Given the description of an element on the screen output the (x, y) to click on. 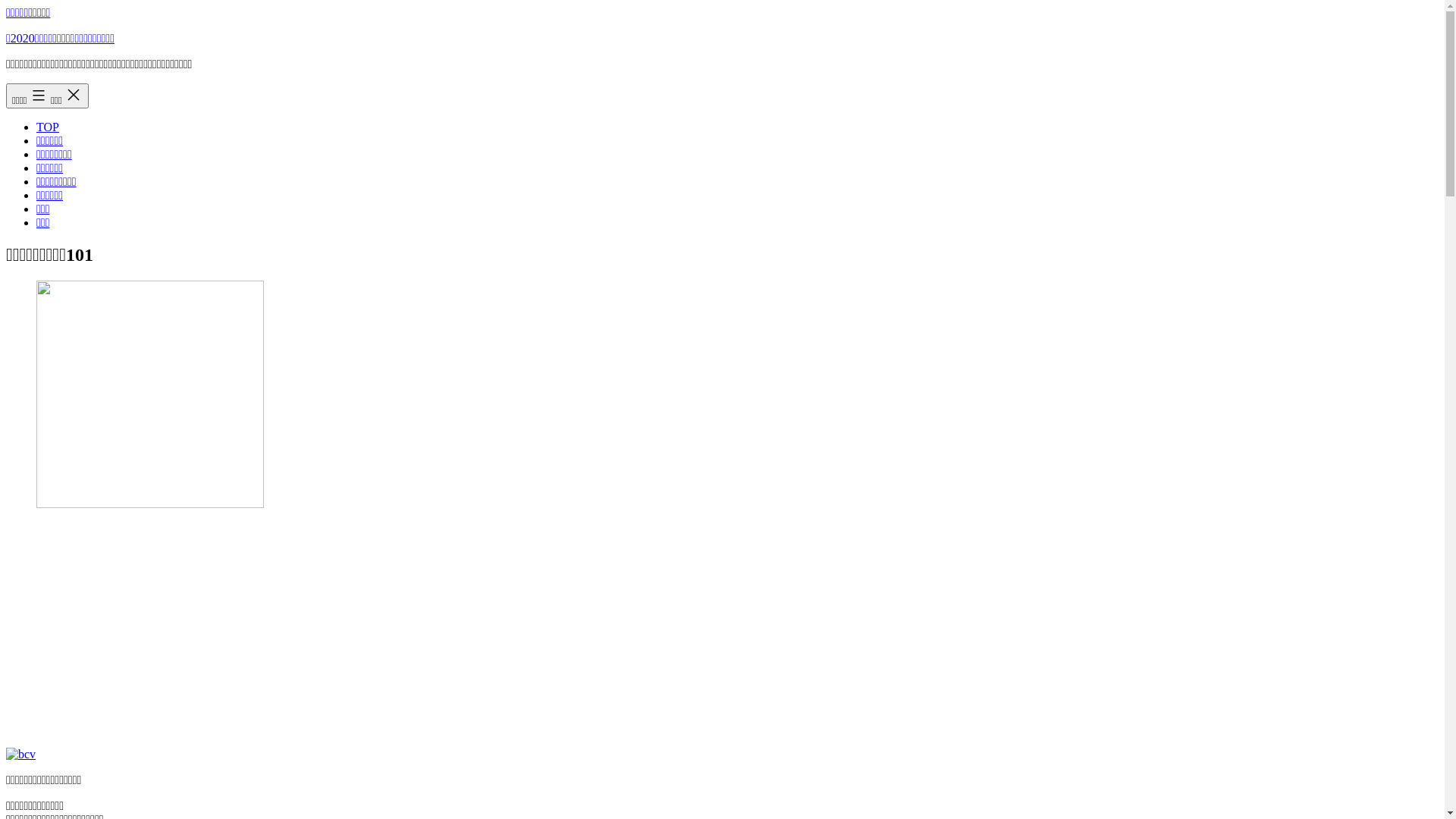
TOP Element type: text (47, 126)
Advertisement Element type: hover (721, 629)
